Given the description of an element on the screen output the (x, y) to click on. 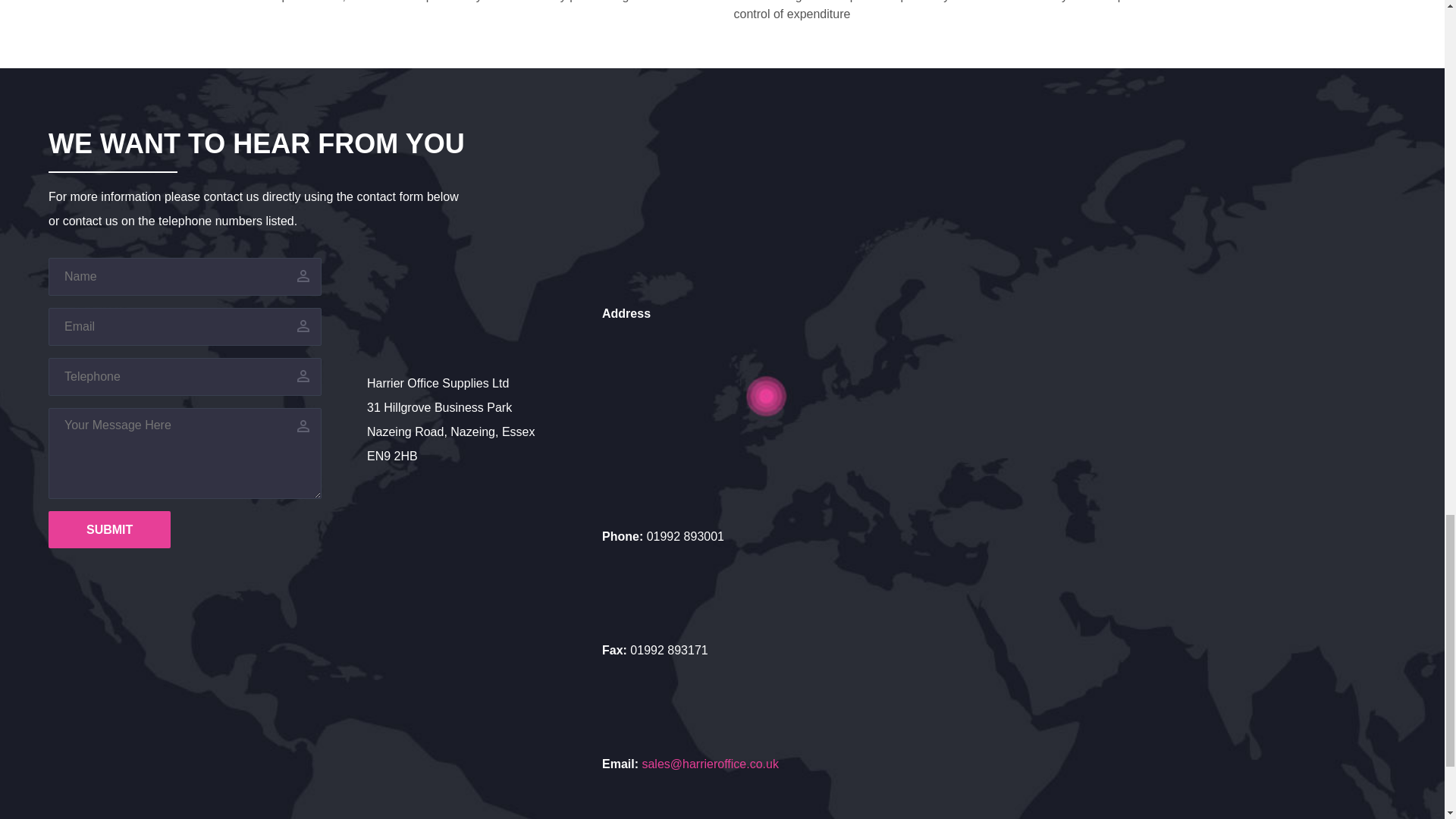
Submit (109, 529)
